Given the description of an element on the screen output the (x, y) to click on. 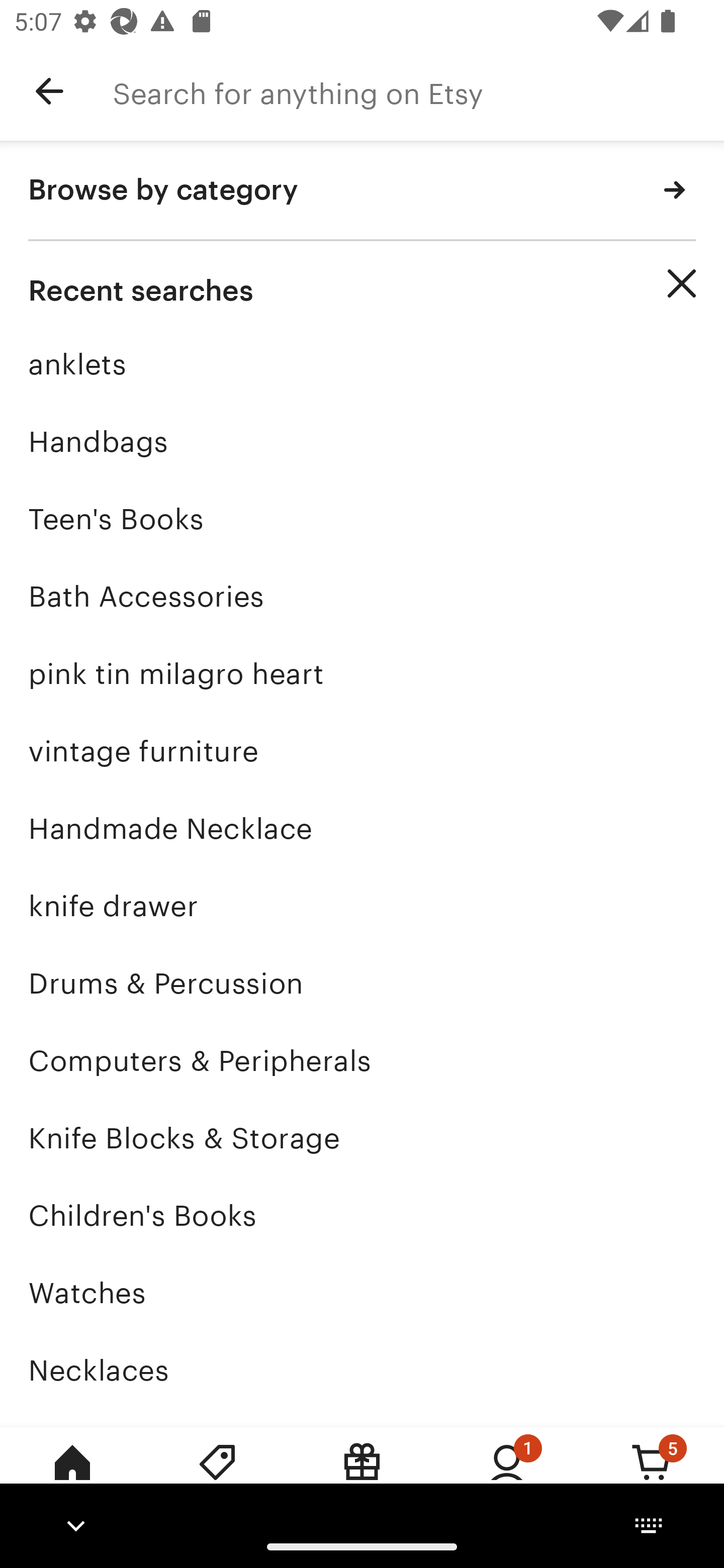
Navigate up (49, 91)
Search for anything on Etsy (418, 91)
Browse by category (362, 191)
Clear (681, 283)
anklets (362, 364)
Handbags (362, 440)
Teen's Books (362, 518)
Bath Accessories (362, 596)
pink tin milagro heart (362, 673)
vintage furniture (362, 750)
Handmade Necklace (362, 828)
knife drawer (362, 906)
Drums & Percussion (362, 983)
Computers & Peripherals (362, 1060)
Knife Blocks & Storage (362, 1138)
Children's Books (362, 1215)
Watches (362, 1292)
Necklaces (362, 1370)
Deals (216, 1475)
Gift Mode (361, 1475)
You, 1 new notification (506, 1475)
Cart, 5 new notifications (651, 1475)
